Given the description of an element on the screen output the (x, y) to click on. 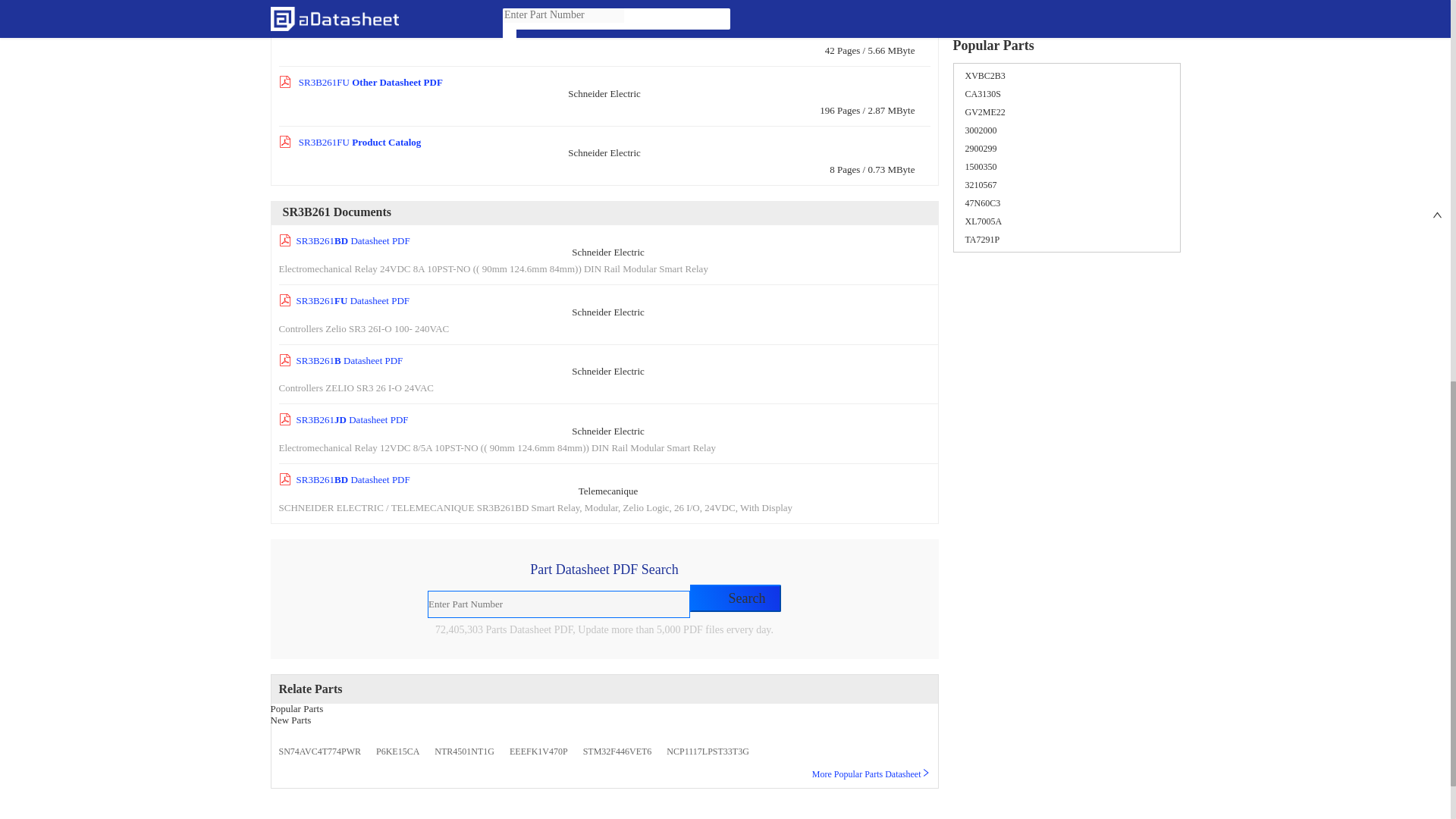
SR3B261FU Product Catalog (350, 142)
EEEFK1V470P (538, 751)
SR3B261BD Datasheet PDF (344, 240)
P6KE15CA (397, 751)
NTR4501NT1G (464, 751)
SR3B261FU Datasheet PDF (344, 300)
SR3B261B Datasheet PDF (341, 360)
SR3B261JD Datasheet PDF (344, 419)
SR3B261BD Datasheet PDF (344, 479)
SN74AVC4T774PWR (320, 751)
SR3B261FU Other Datasheet PDF (360, 81)
SR3B261FU User Reference Manual Guide (379, 21)
Search (735, 597)
NCP1117LPST33T3G (707, 751)
More Popular Parts Datasheet (871, 774)
